Given the description of an element on the screen output the (x, y) to click on. 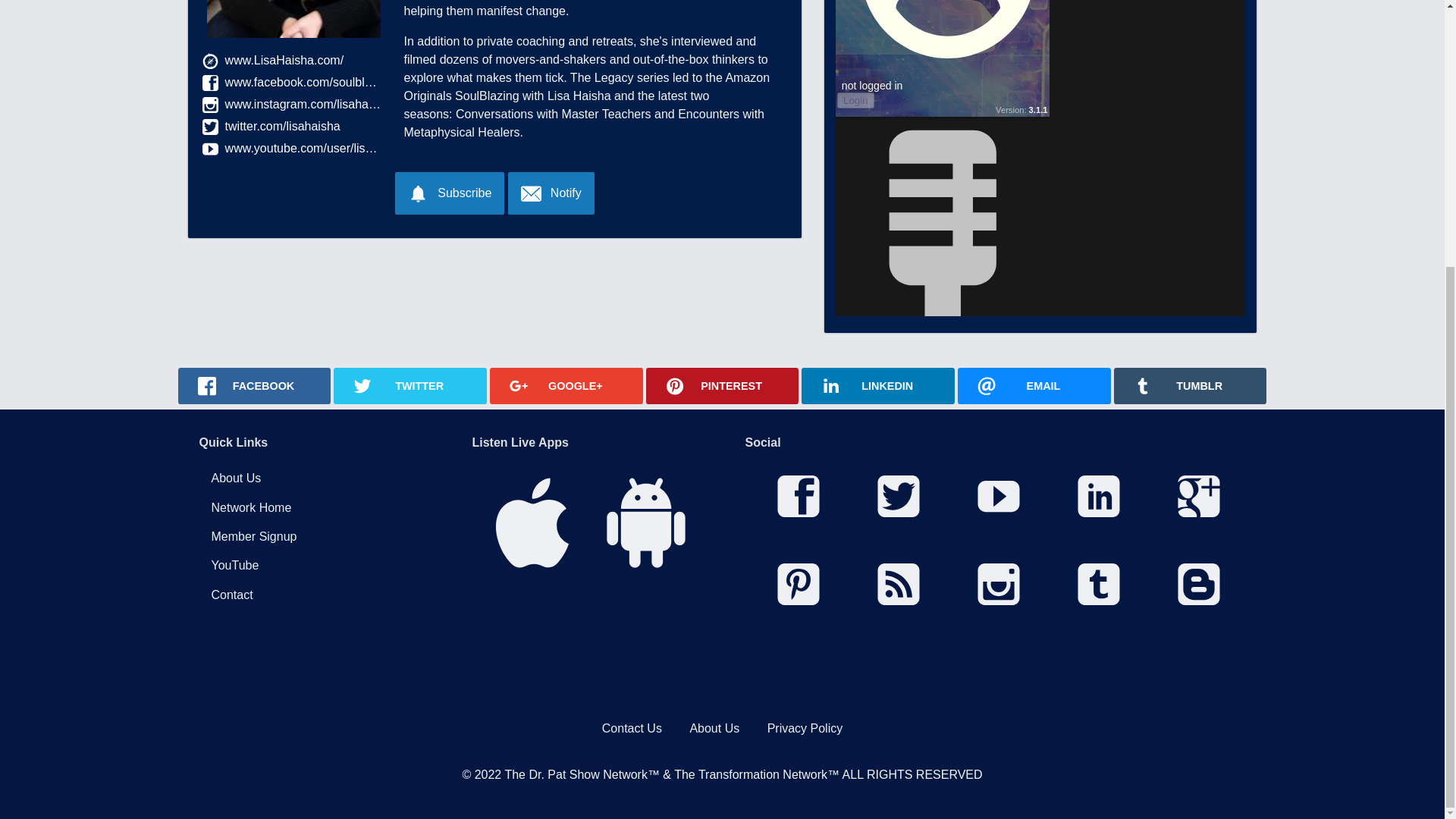
EMAIL (1034, 385)
 Subscribe (448, 192)
 Notify (551, 192)
LINKEDIN (878, 385)
Send me an email message when guest new podcast is available (551, 192)
PINTEREST (722, 385)
FACEBOOK (253, 385)
TUMBLR (1189, 385)
About Us (312, 478)
Network Home (312, 507)
TWITTER (409, 385)
Member Signup (312, 536)
YouTube (312, 565)
